Given the description of an element on the screen output the (x, y) to click on. 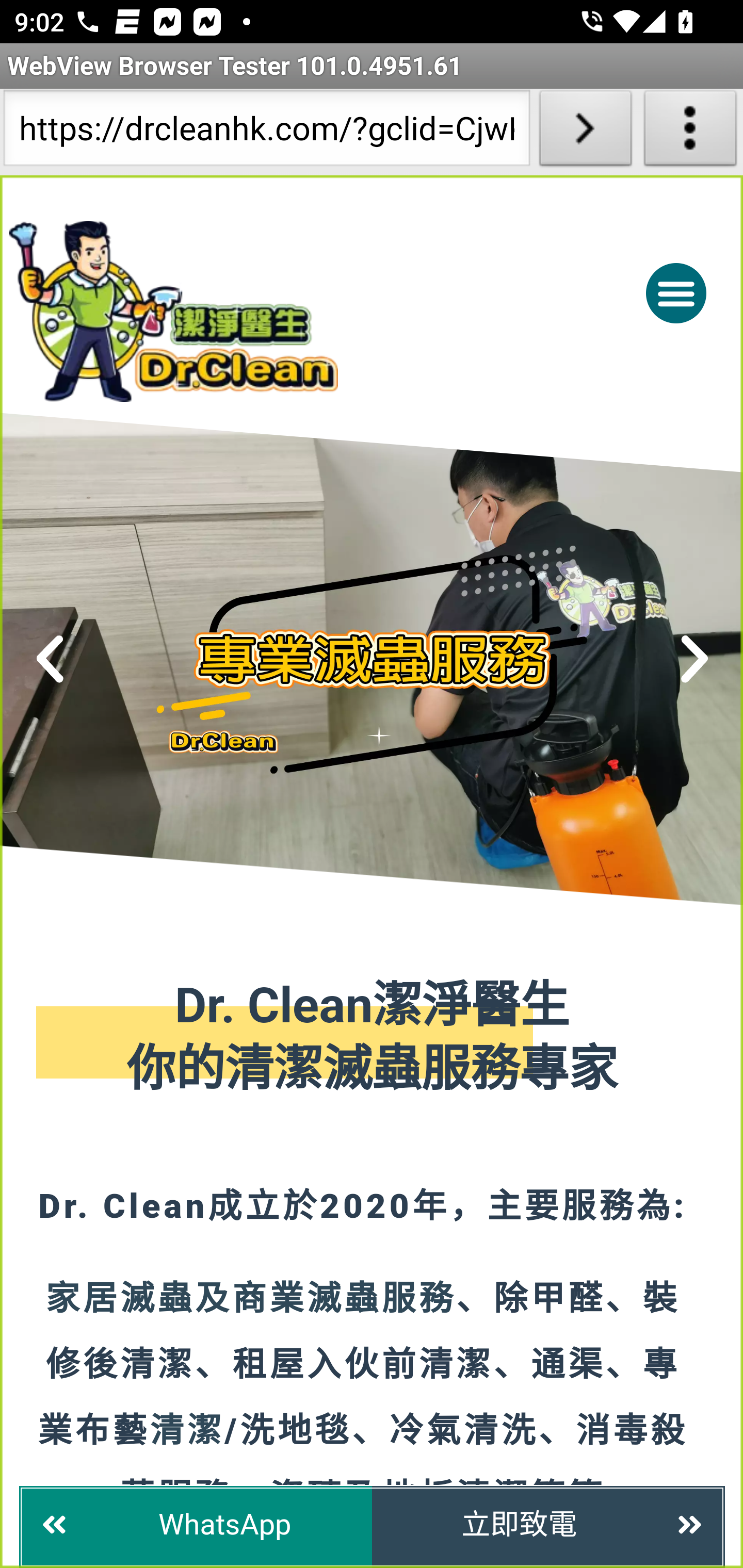
Load URL (585, 132)
About WebView (690, 132)
drcleanhk (254, 309)
Menu Toggle (675, 292)
Previous slide Next slide (371, 658)
Previous slide (50, 659)
Next slide (694, 659)
Dr. Clean潔淨醫生 你的清潔滅蟲服務專家 (372, 1038)
